Given the description of an element on the screen output the (x, y) to click on. 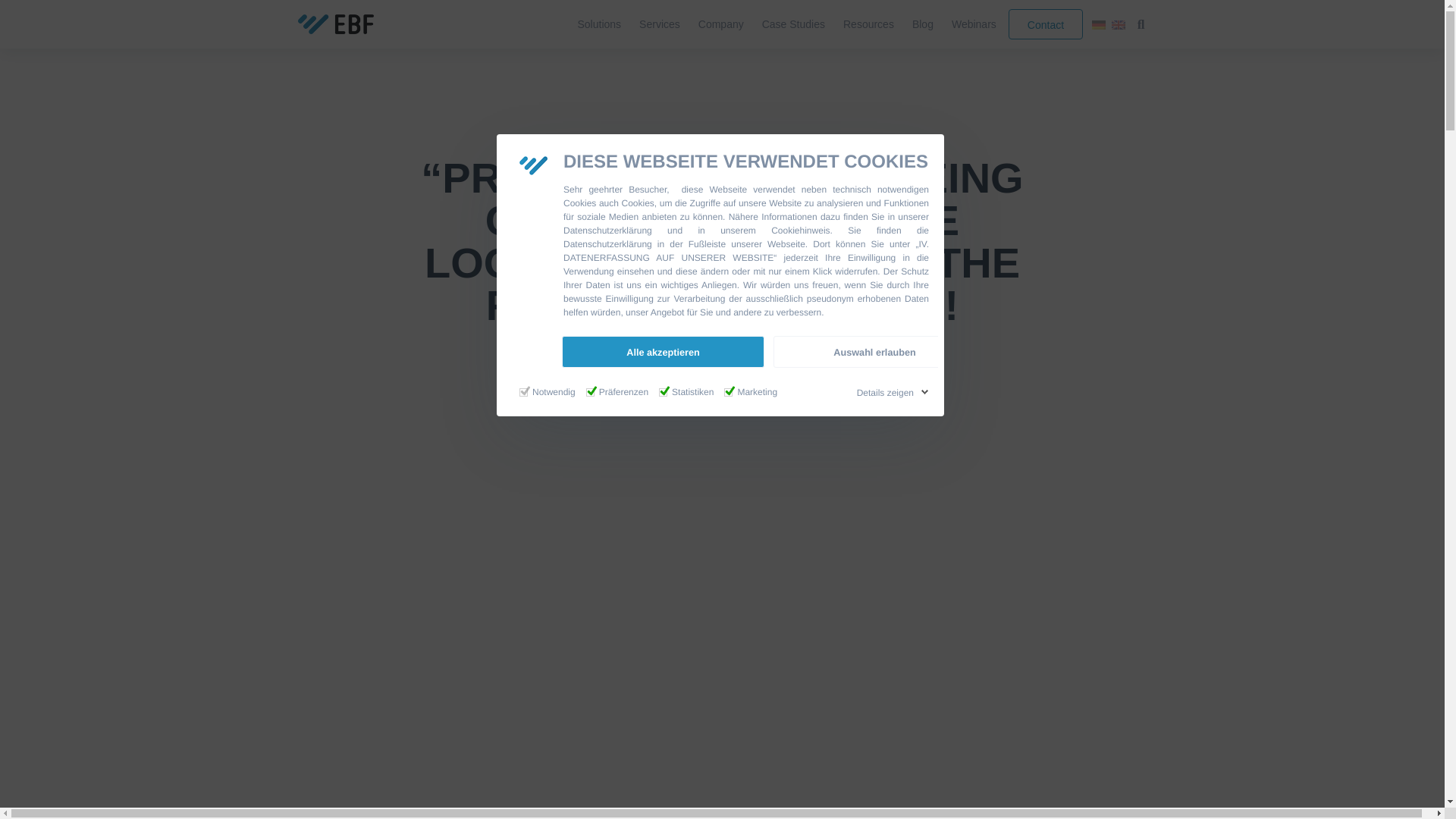
Auswahl erlauben (874, 351)
Details zeigen (890, 392)
Alle akzeptieren (663, 351)
